Given the description of an element on the screen output the (x, y) to click on. 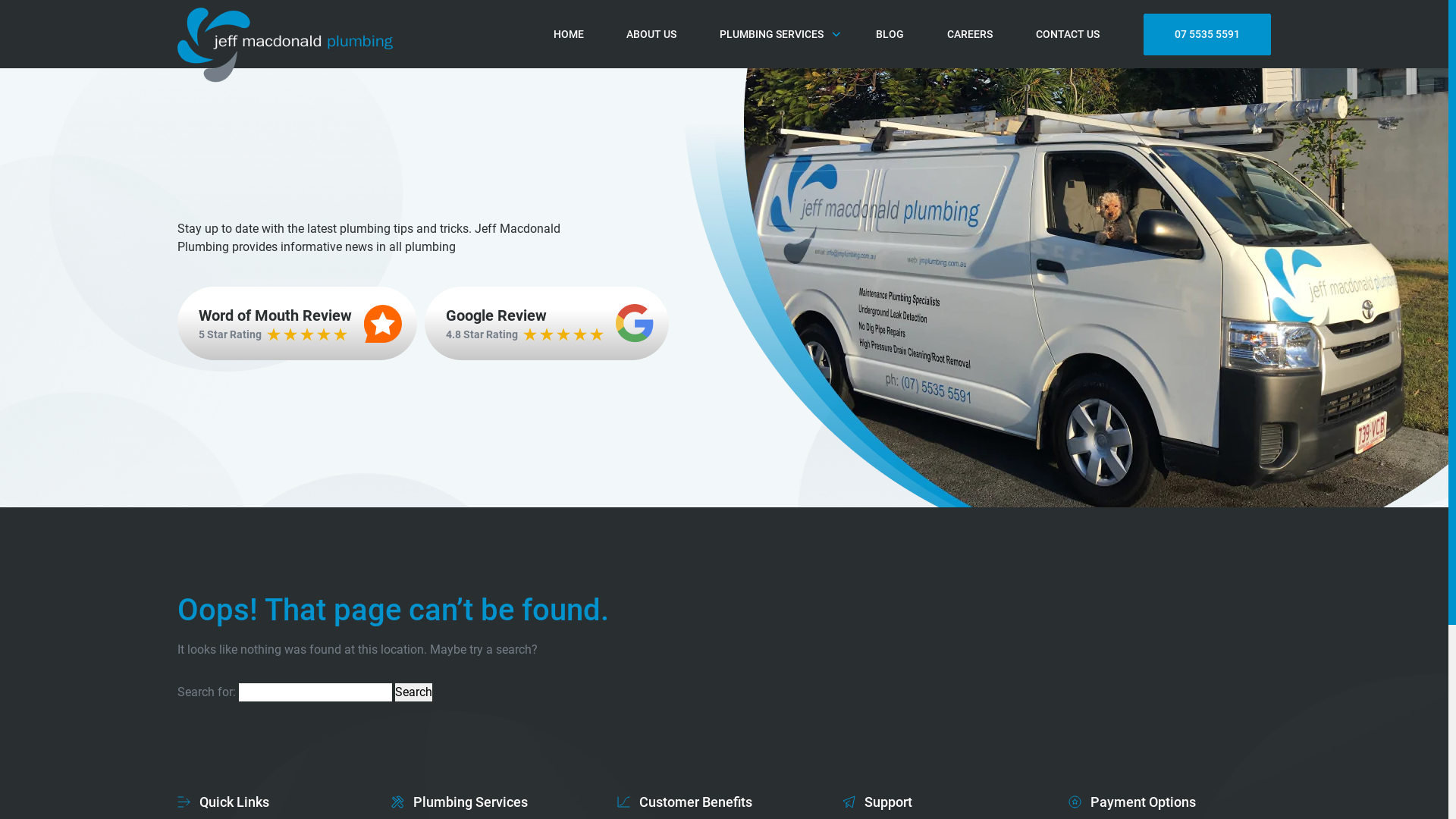
CAREERS Element type: text (969, 34)
ABOUT US Element type: text (651, 34)
PLUMBING SERVICES Element type: text (775, 34)
07 5535 5591 Element type: text (1206, 34)
HOME Element type: text (568, 34)
BLOG Element type: text (889, 34)
CONTACT US Element type: text (1067, 34)
Search Element type: text (413, 692)
